Given the description of an element on the screen output the (x, y) to click on. 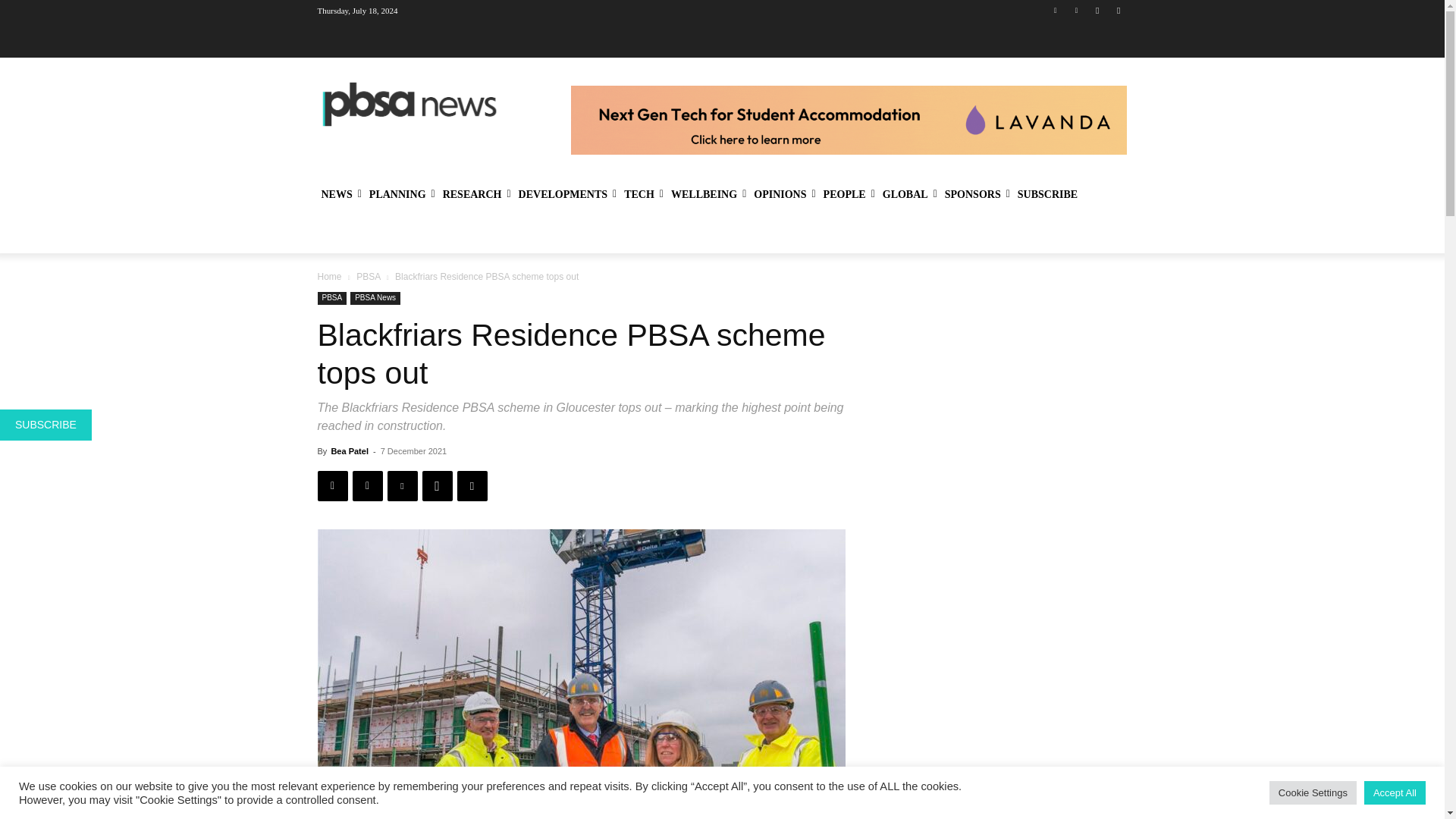
Instagram (1117, 9)
Linkedin (1055, 9)
Twitter (1075, 9)
Facebook (1097, 9)
NEWS (341, 194)
